Given the description of an element on the screen output the (x, y) to click on. 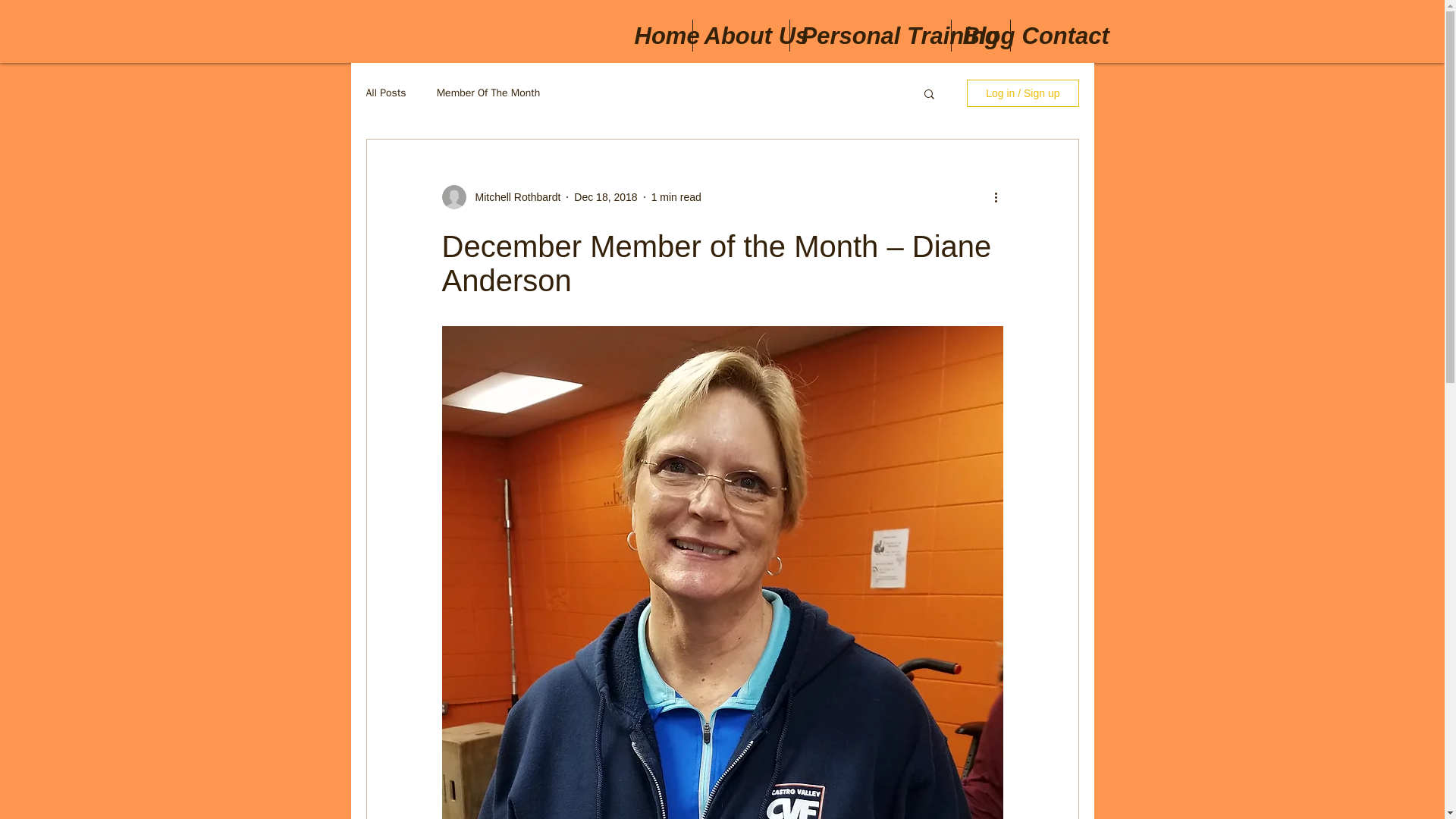
Personal Training (870, 35)
Contact (1051, 35)
All Posts (385, 92)
Home (658, 35)
Dec 18, 2018 (605, 196)
1 min read (675, 196)
Member Of The Month (488, 92)
Mitchell Rothbardt (512, 197)
About Us (741, 35)
Blog (979, 35)
